Given the description of an element on the screen output the (x, y) to click on. 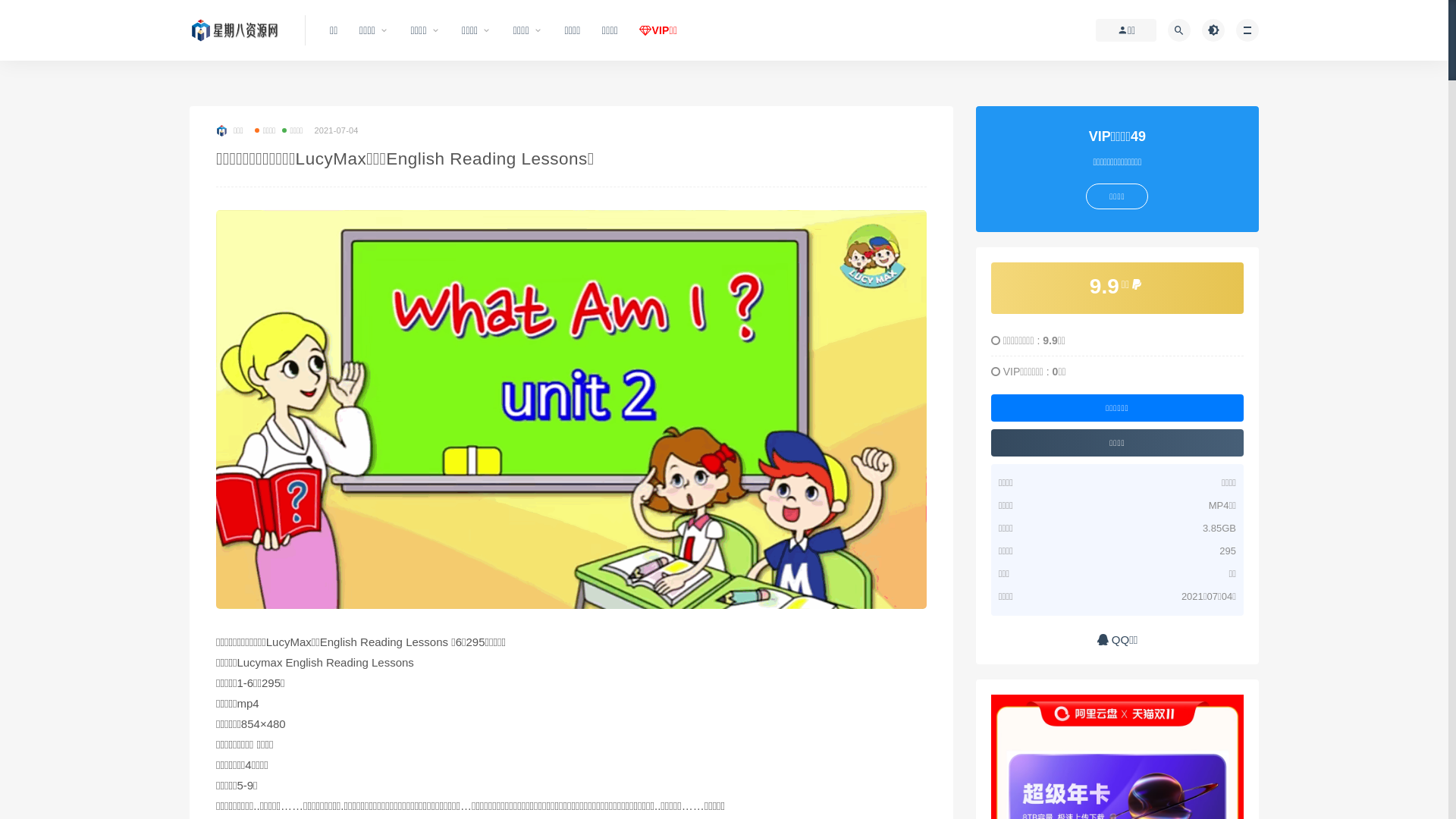
2021-07-04 Element type: text (335, 129)
